Given the description of an element on the screen output the (x, y) to click on. 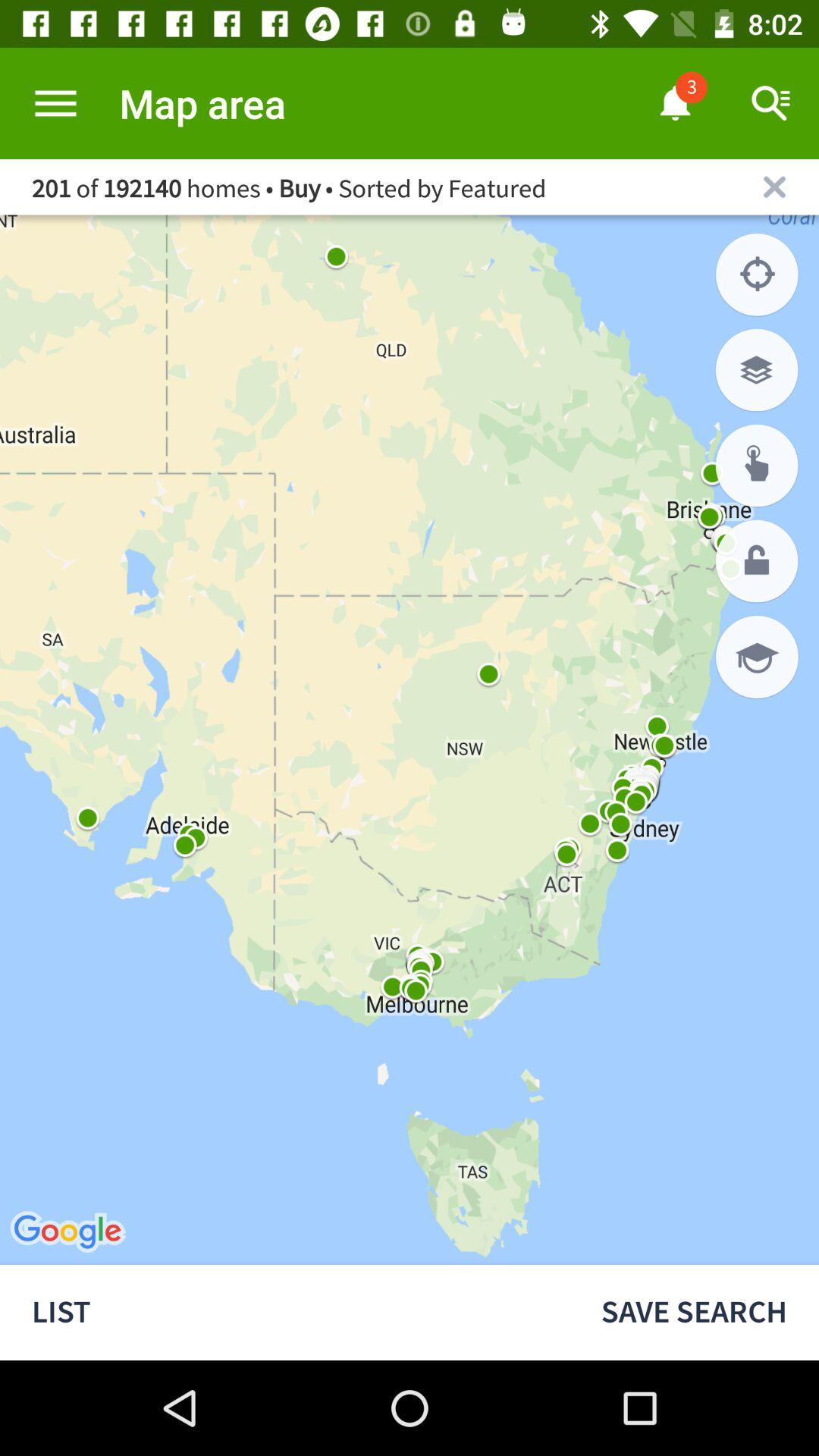
press icon to the left of save search icon (284, 1312)
